Given the description of an element on the screen output the (x, y) to click on. 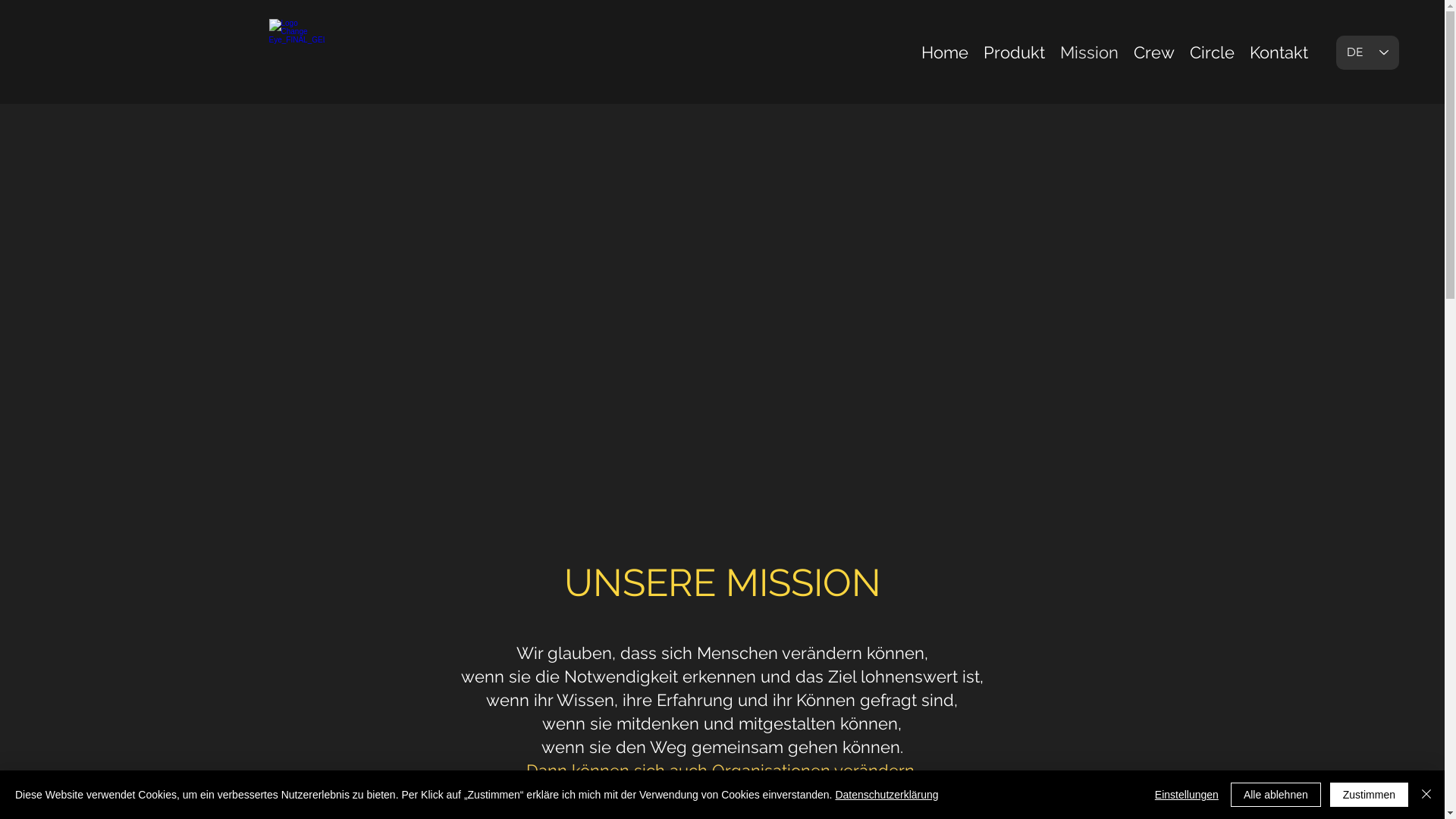
Kontakt Element type: text (1278, 51)
Home Element type: text (944, 51)
Mission Element type: text (1089, 51)
Circle Element type: text (1212, 51)
Zustimmen Element type: text (1369, 794)
Alle ablehnen Element type: text (1275, 794)
Crew Element type: text (1154, 51)
Produkt Element type: text (1013, 51)
